Given the description of an element on the screen output the (x, y) to click on. 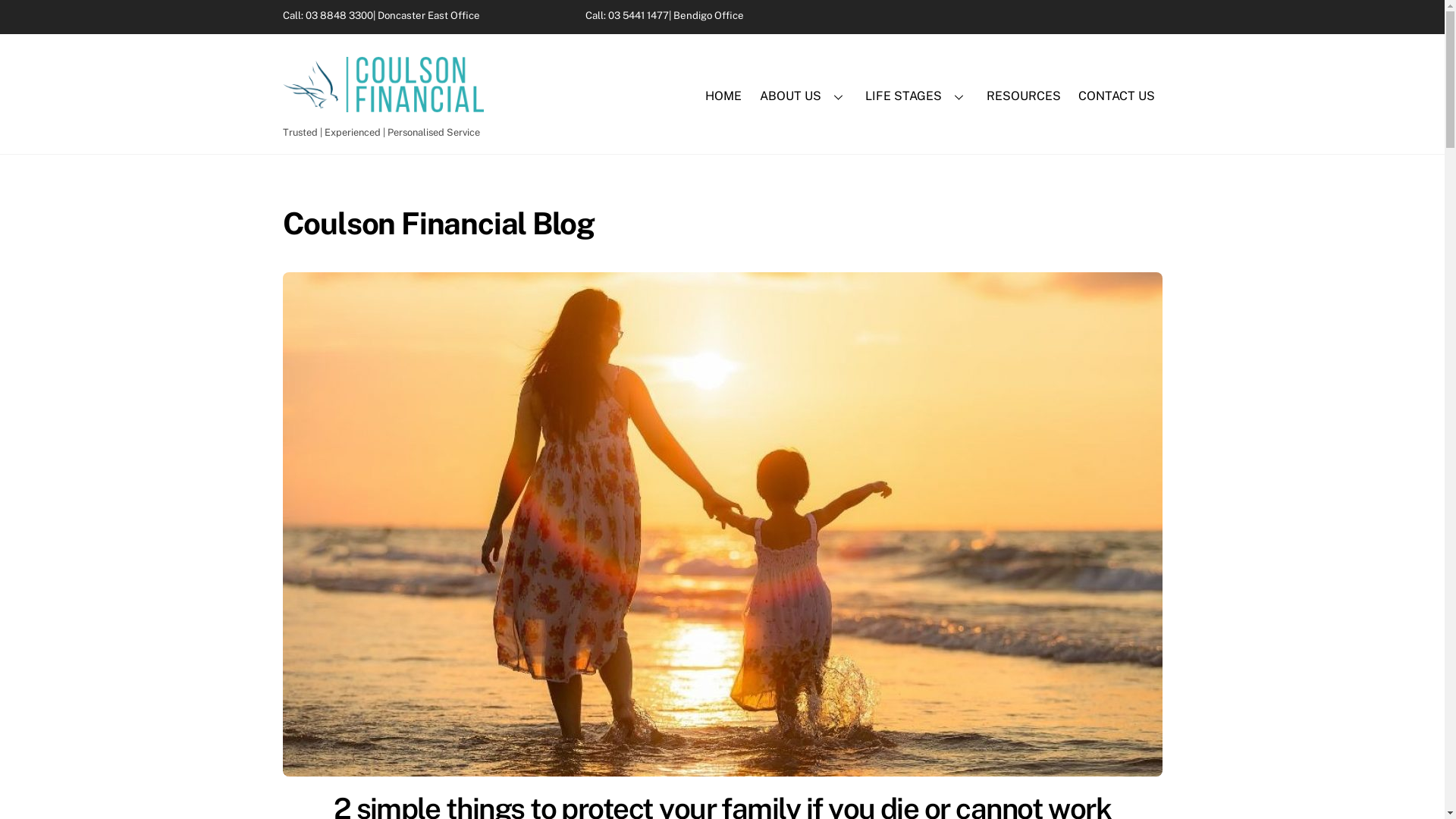
RESOURCES Element type: text (1023, 96)
03 5441 1477 Element type: text (638, 15)
Coulson Financial Element type: hover (382, 104)
ABOUT US Element type: text (803, 96)
LIFE STAGES Element type: text (917, 96)
CONTACT US Element type: text (1115, 96)
coulson-financial-life-insurance-1000x615 Element type: hover (721, 524)
03 8848 3300 Element type: text (338, 15)
Doncaster East Office Element type: text (428, 15)
HOME Element type: text (723, 96)
Bendigo Office Element type: text (708, 15)
